Given the description of an element on the screen output the (x, y) to click on. 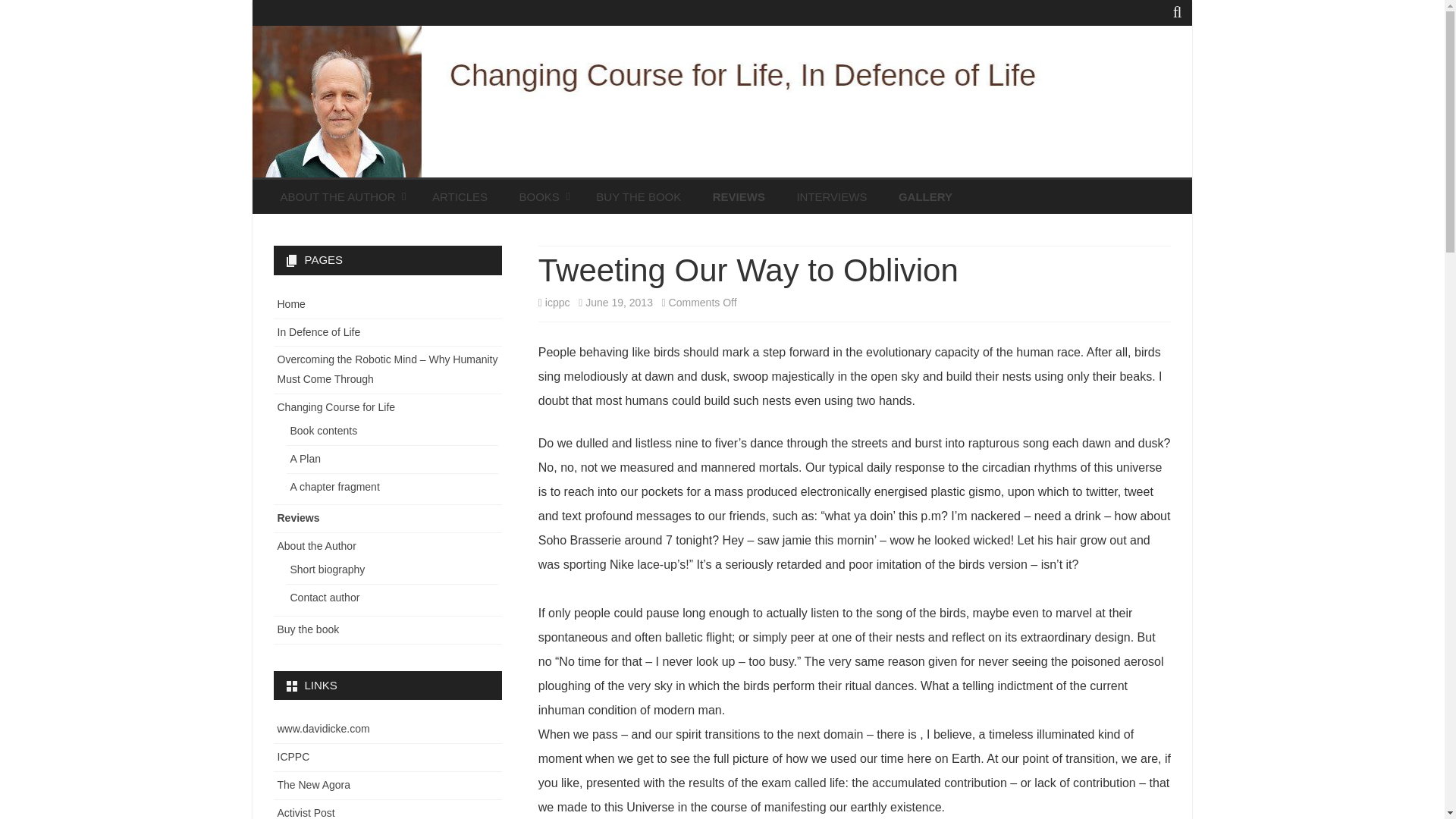
Contact author (324, 597)
Changing Course for Life (337, 407)
Home (291, 304)
BUY THE BOOK (638, 196)
Buy the book (308, 629)
SHORT BIOGRAPHY (343, 231)
GALLERY (925, 196)
BOOKS (540, 196)
ABOUT THE AUTHOR (339, 196)
CHANGING COURSE FOR LIFE (582, 242)
About the Author (317, 545)
A chapter fragment (333, 486)
REVIEWS (738, 196)
Home (291, 304)
